Given the description of an element on the screen output the (x, y) to click on. 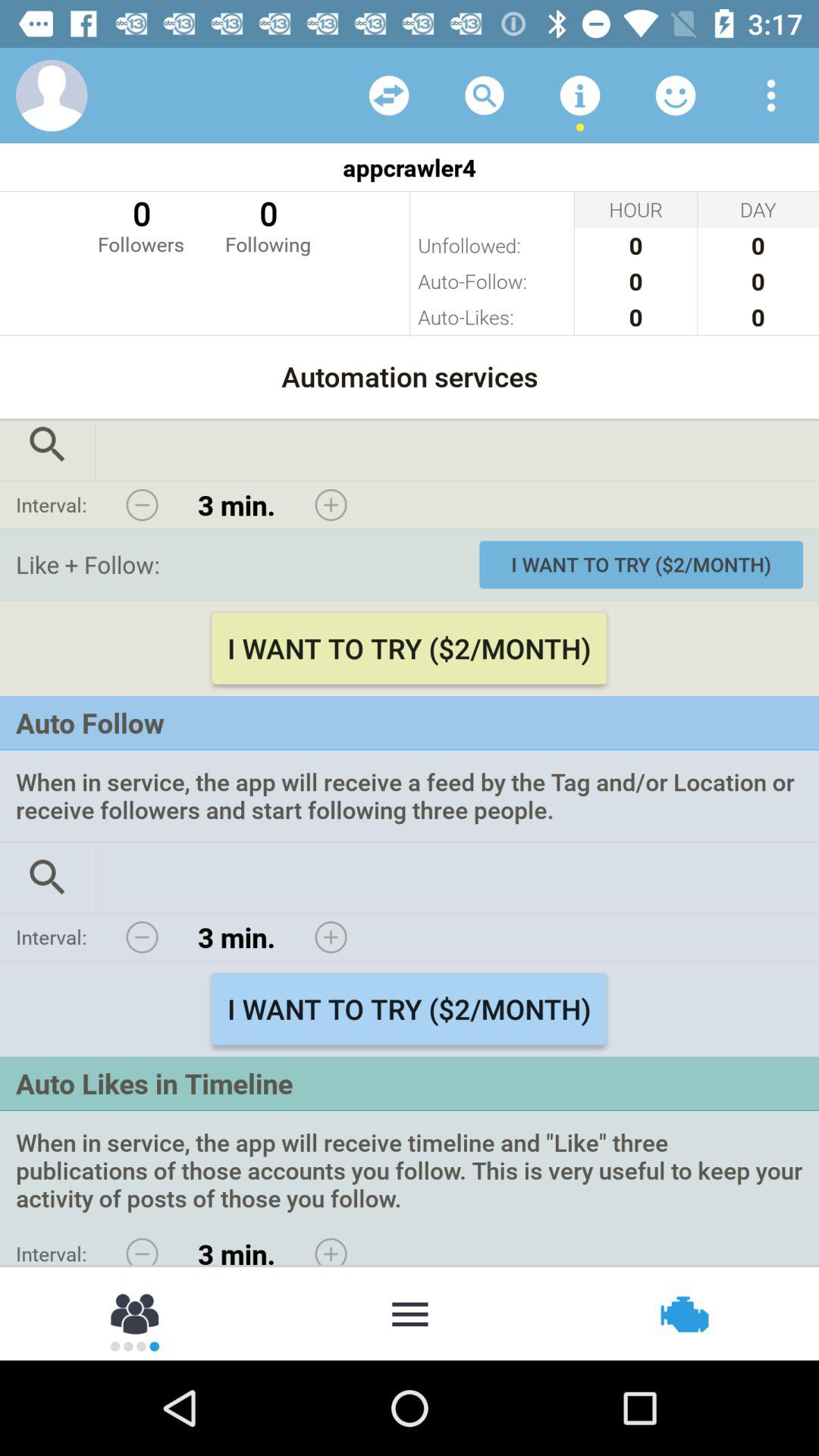
moer option (409, 1312)
